Given the description of an element on the screen output the (x, y) to click on. 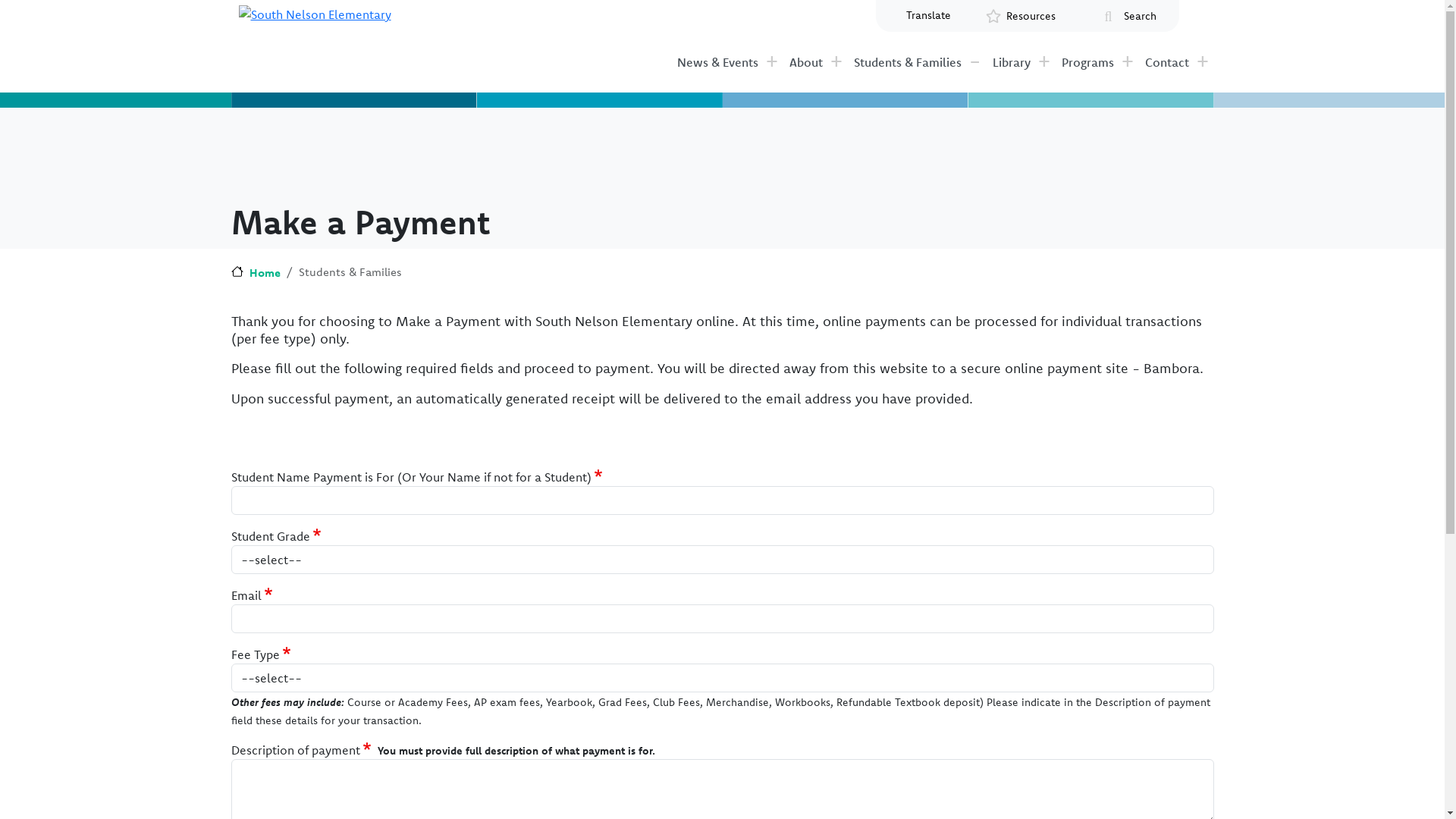
This field is required. Element type: hover (268, 594)
This field is required. Element type: hover (366, 749)
This field is required. Element type: hover (286, 654)
Home Element type: text (254, 272)
This field is required. Element type: hover (598, 476)
This field is required. Element type: hover (316, 535)
Resources Element type: text (1030, 16)
Translate Element type: text (927, 15)
Search Element type: text (1139, 15)
